Given the description of an element on the screen output the (x, y) to click on. 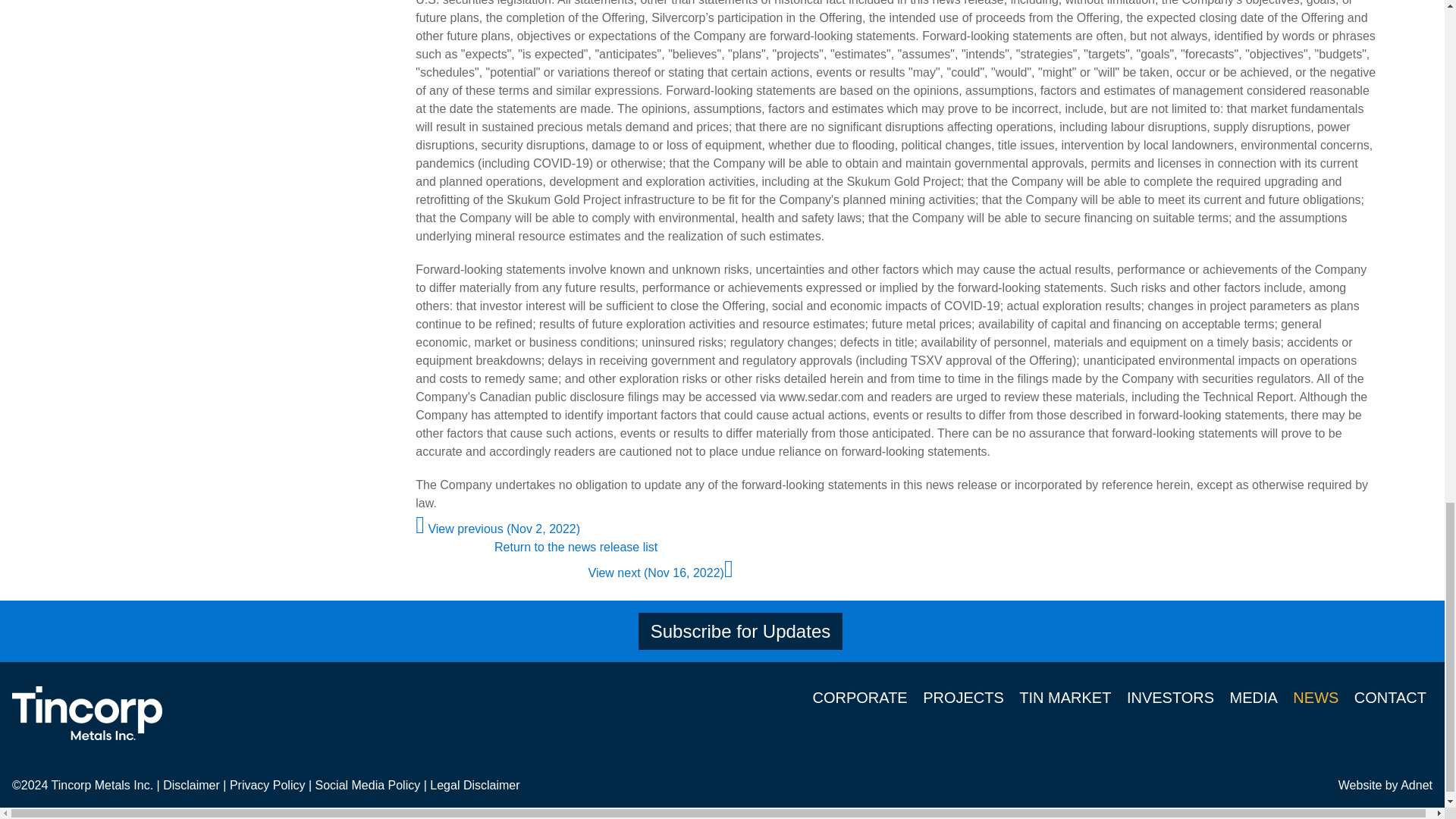
Back to Home Page (86, 713)
Return to the news release list (576, 546)
